Given the description of an element on the screen output the (x, y) to click on. 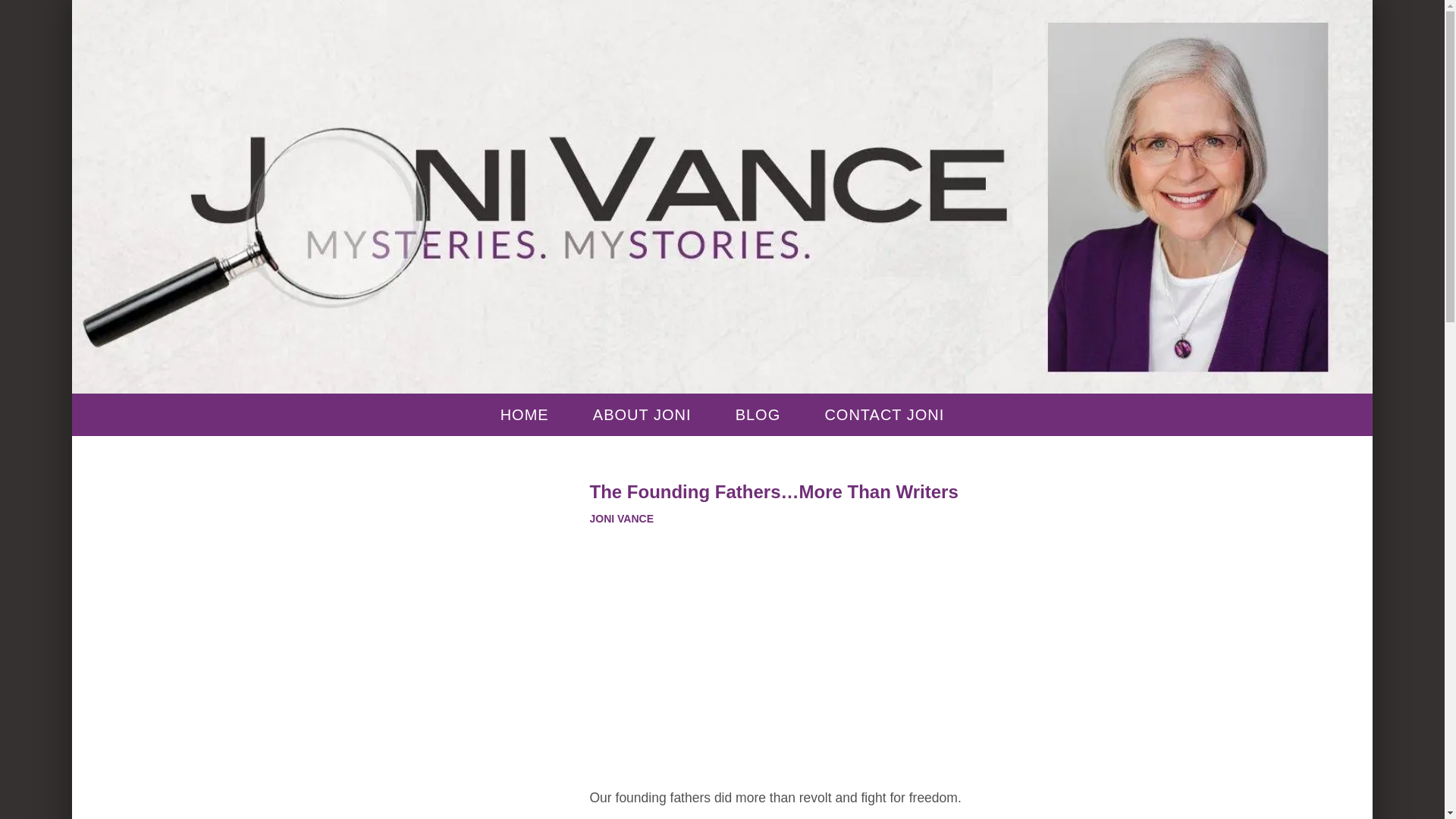
ABOUT JONI (641, 414)
BLOG (758, 414)
CONTACT JONI (884, 414)
JONI VANCE (621, 518)
HOME (524, 414)
